Given the description of an element on the screen output the (x, y) to click on. 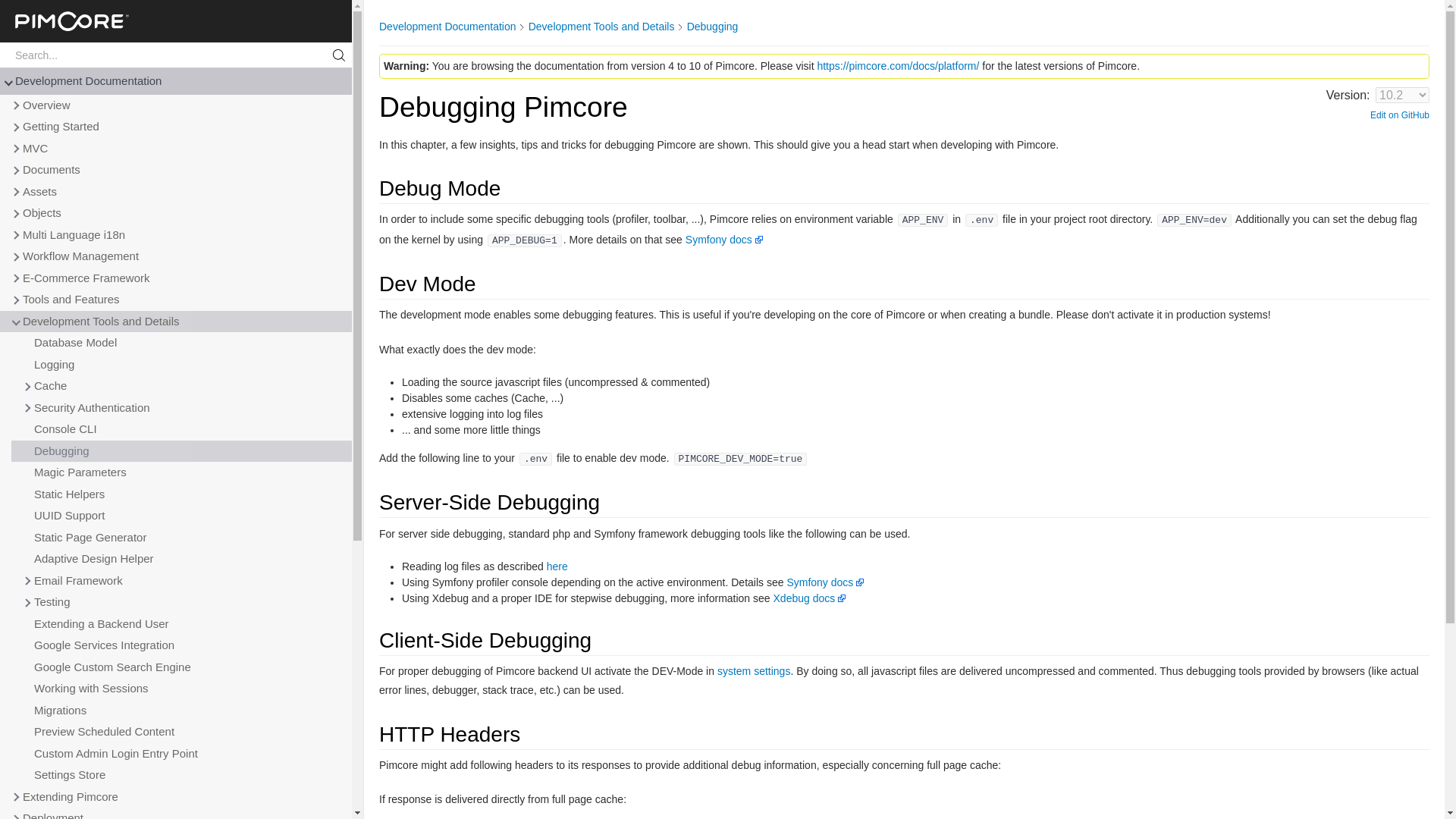
 Development Documentation (176, 81)
 Documents (176, 169)
 Overview (176, 106)
Pimcore (176, 21)
 Getting Started (176, 127)
 MVC (176, 148)
